Given the description of an element on the screen output the (x, y) to click on. 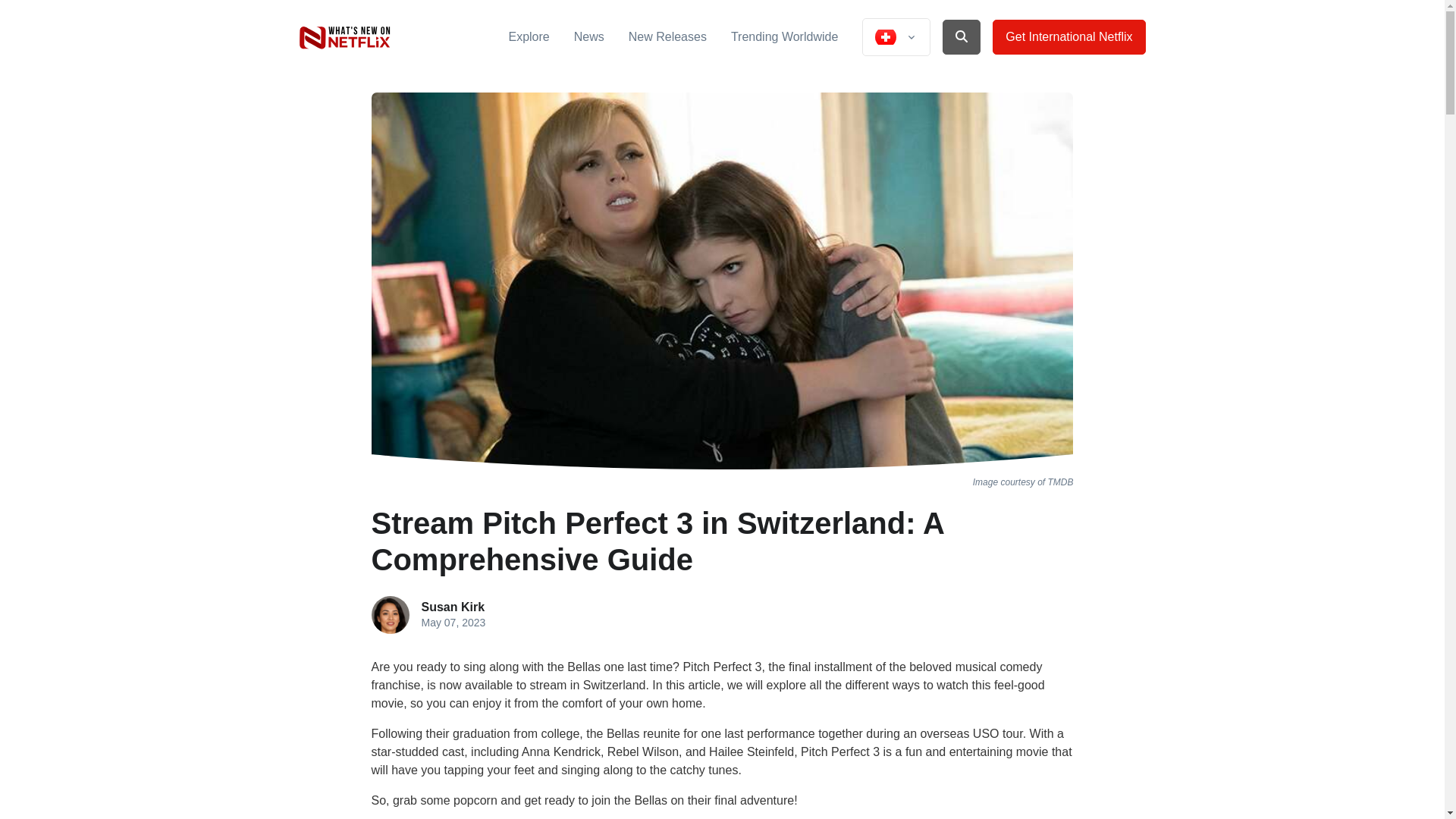
New Releases (668, 36)
Trending Worldwide (784, 36)
Explore (528, 36)
News (588, 36)
